Given the description of an element on the screen output the (x, y) to click on. 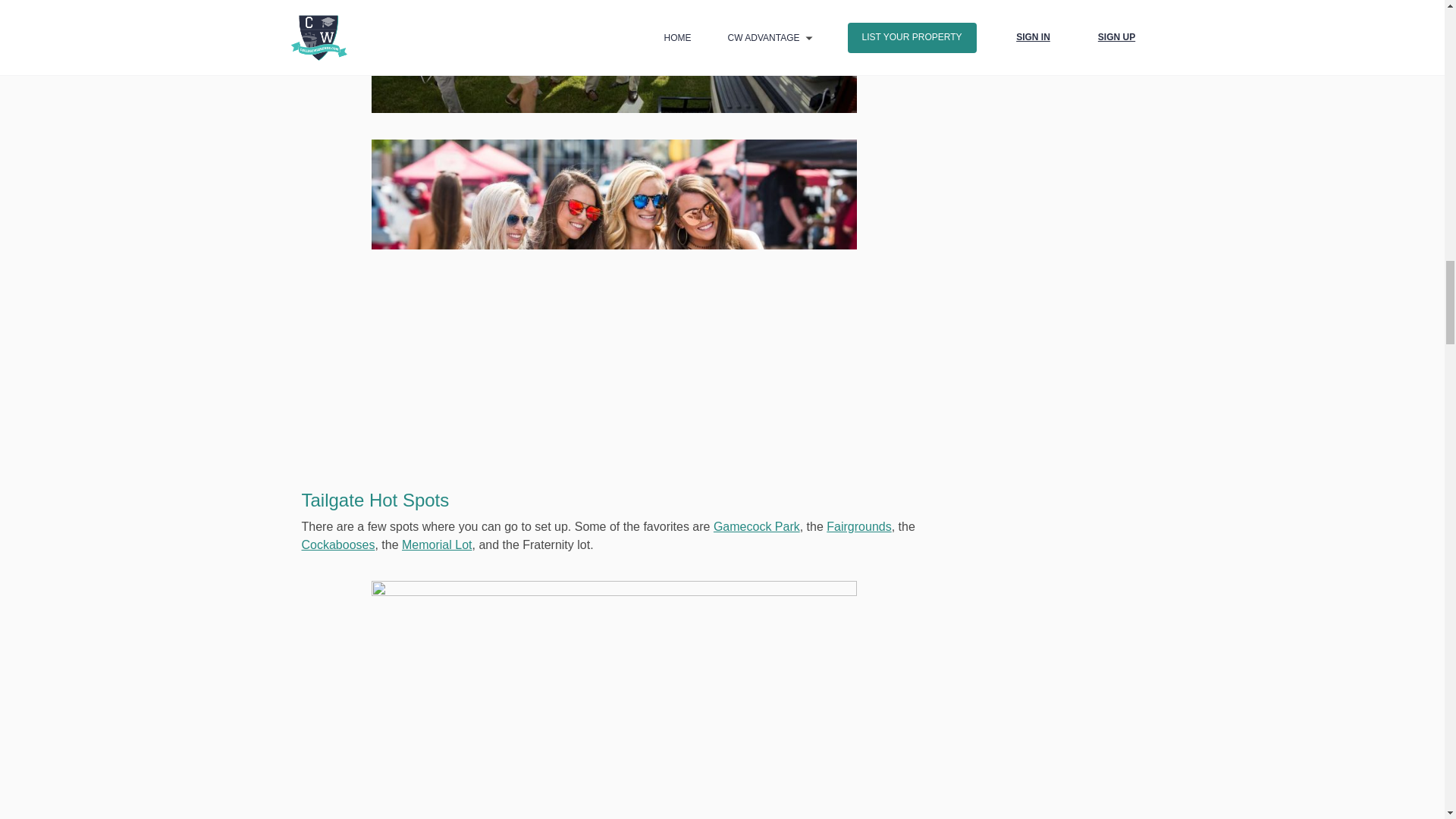
Fairgrounds (859, 526)
Gamecock Park (756, 526)
Cockabooses (338, 544)
Memorial Lot (436, 544)
